Given the description of an element on the screen output the (x, y) to click on. 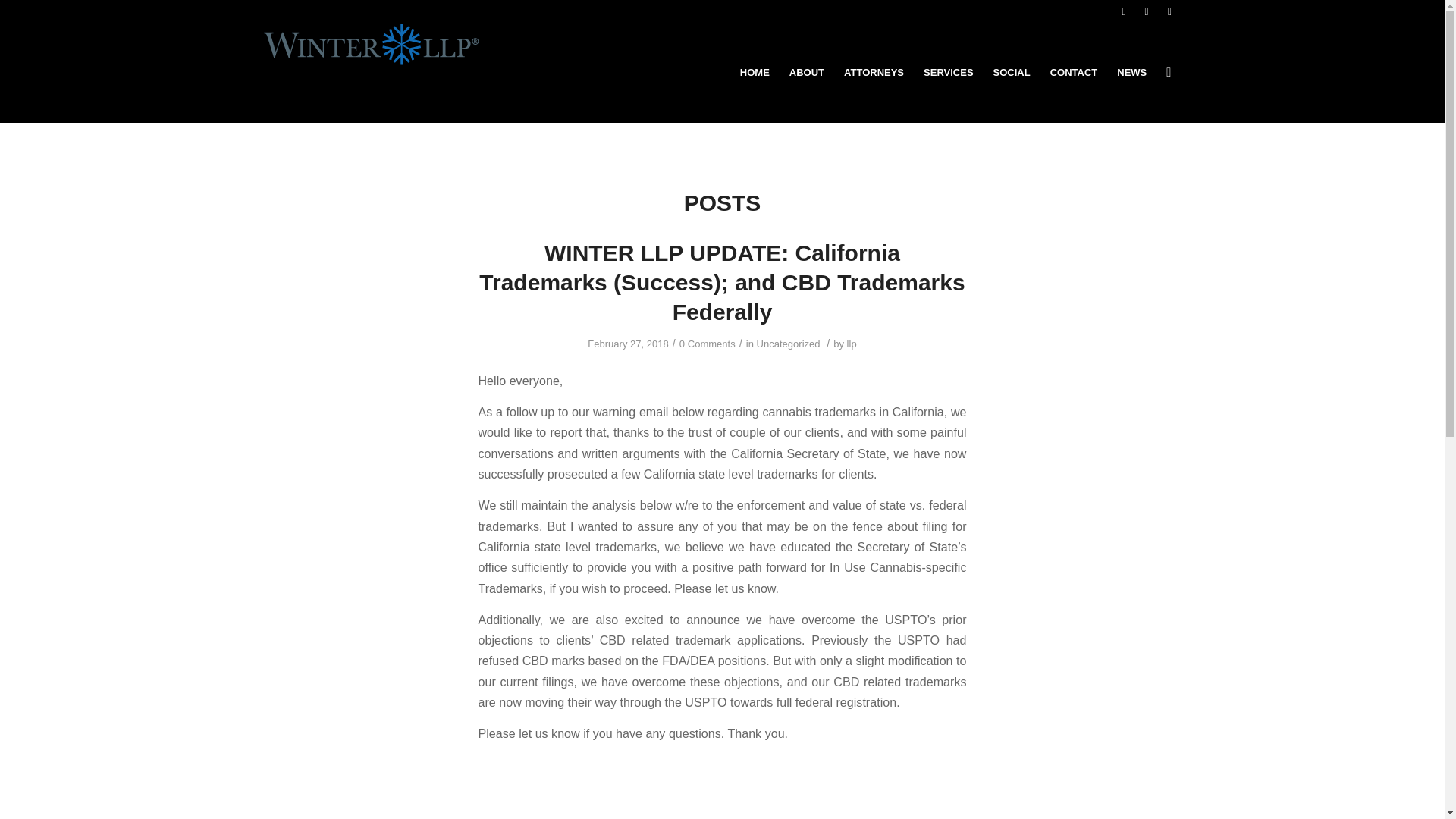
Facebook (1124, 11)
Twitter (1146, 11)
Uncategorized (789, 343)
0 Comments (707, 343)
Instagram (1169, 11)
